Given the description of an element on the screen output the (x, y) to click on. 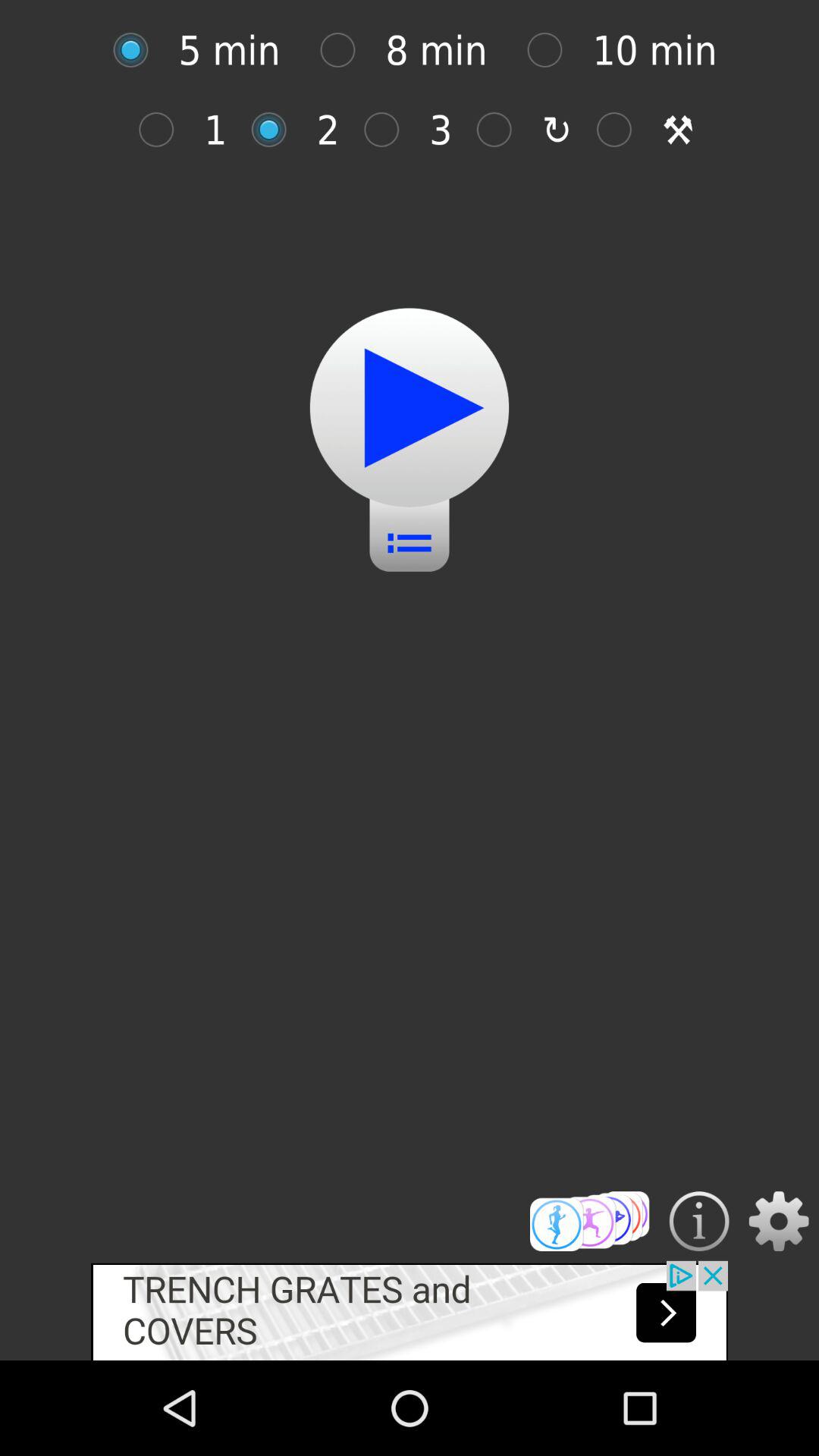
get more information (699, 1221)
